Given the description of an element on the screen output the (x, y) to click on. 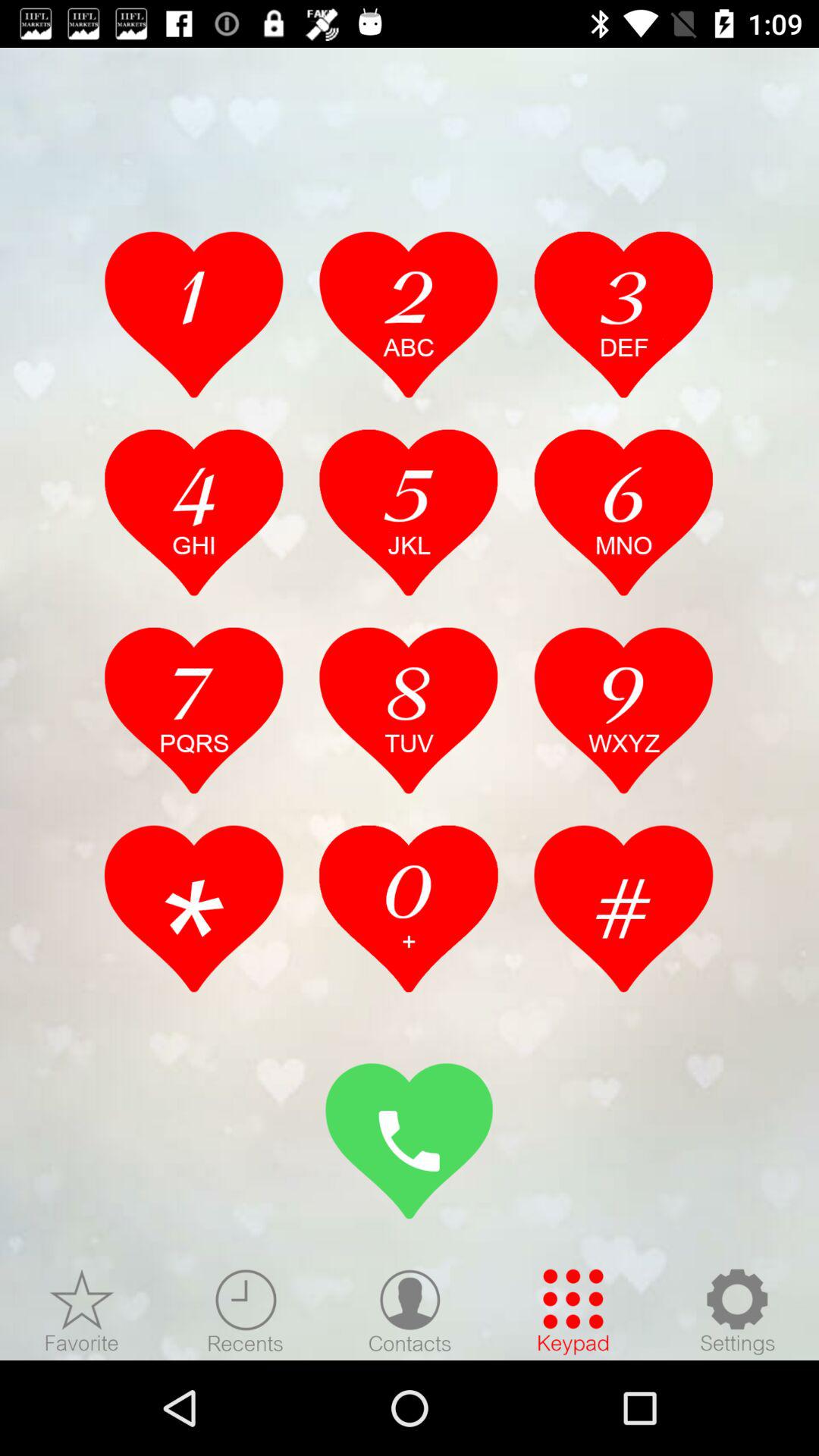
press 4 (194, 512)
